Given the description of an element on the screen output the (x, y) to click on. 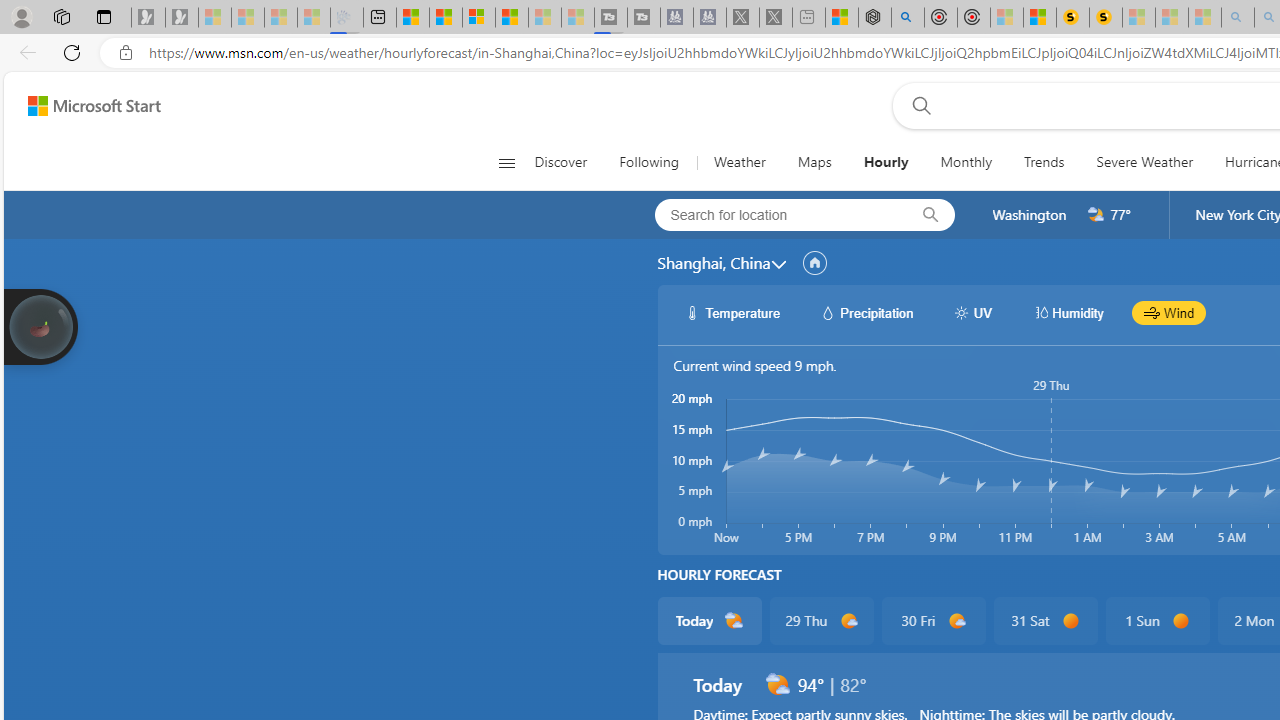
Join us in planting real trees to help our planet! (40, 327)
locationBar/search (930, 215)
hourlyChart/uvWhite (961, 312)
d0000 (1180, 621)
30 Fri d1000 (932, 620)
Open navigation menu (506, 162)
hourlyChart/precipitationWhite Precipitation (866, 312)
